Given the description of an element on the screen output the (x, y) to click on. 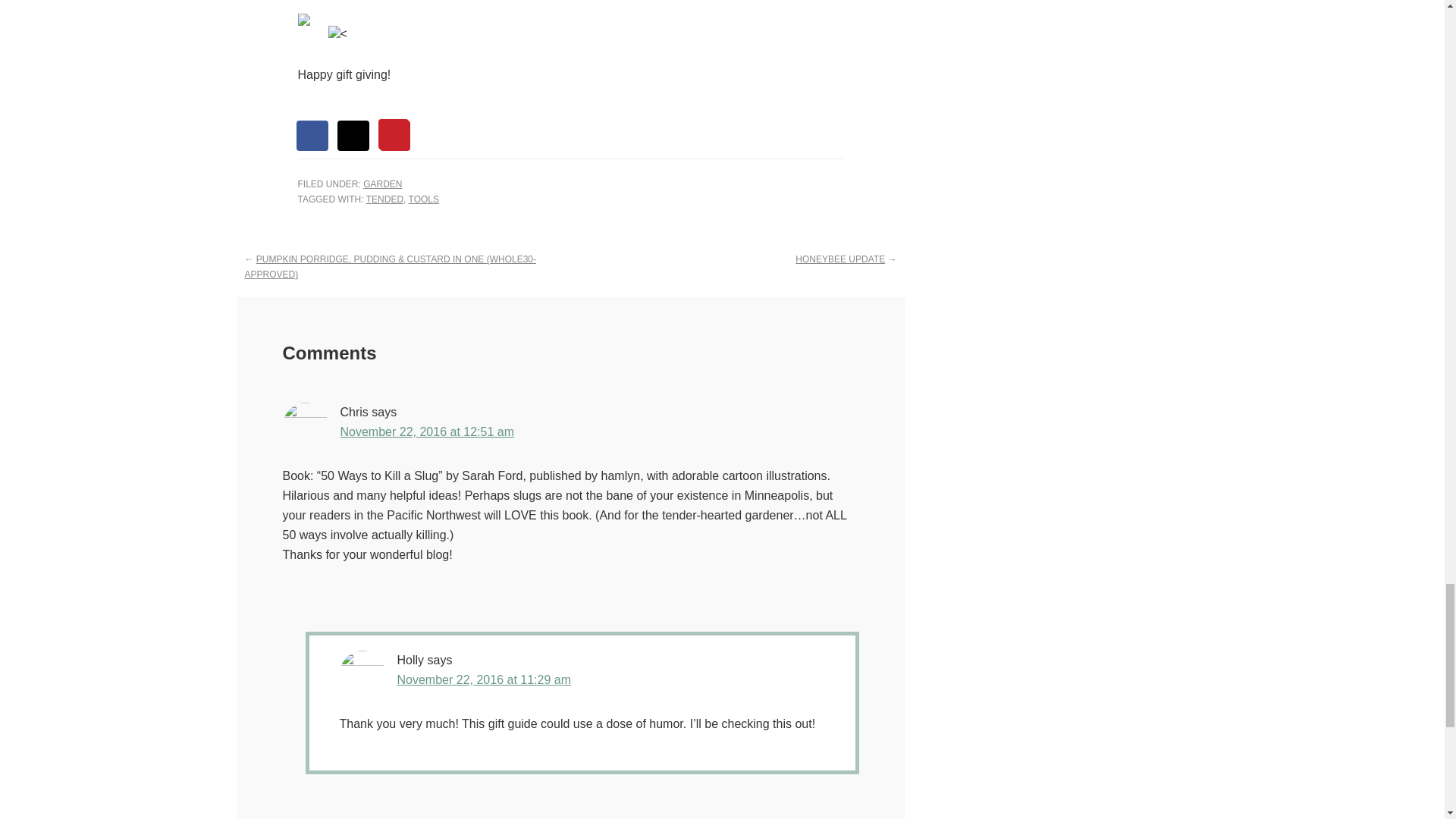
Share on Facebook (312, 135)
TENDED (384, 199)
TOOLS (424, 199)
Share on X (354, 135)
Save to Pinterest (395, 135)
GARDEN (381, 184)
